Given the description of an element on the screen output the (x, y) to click on. 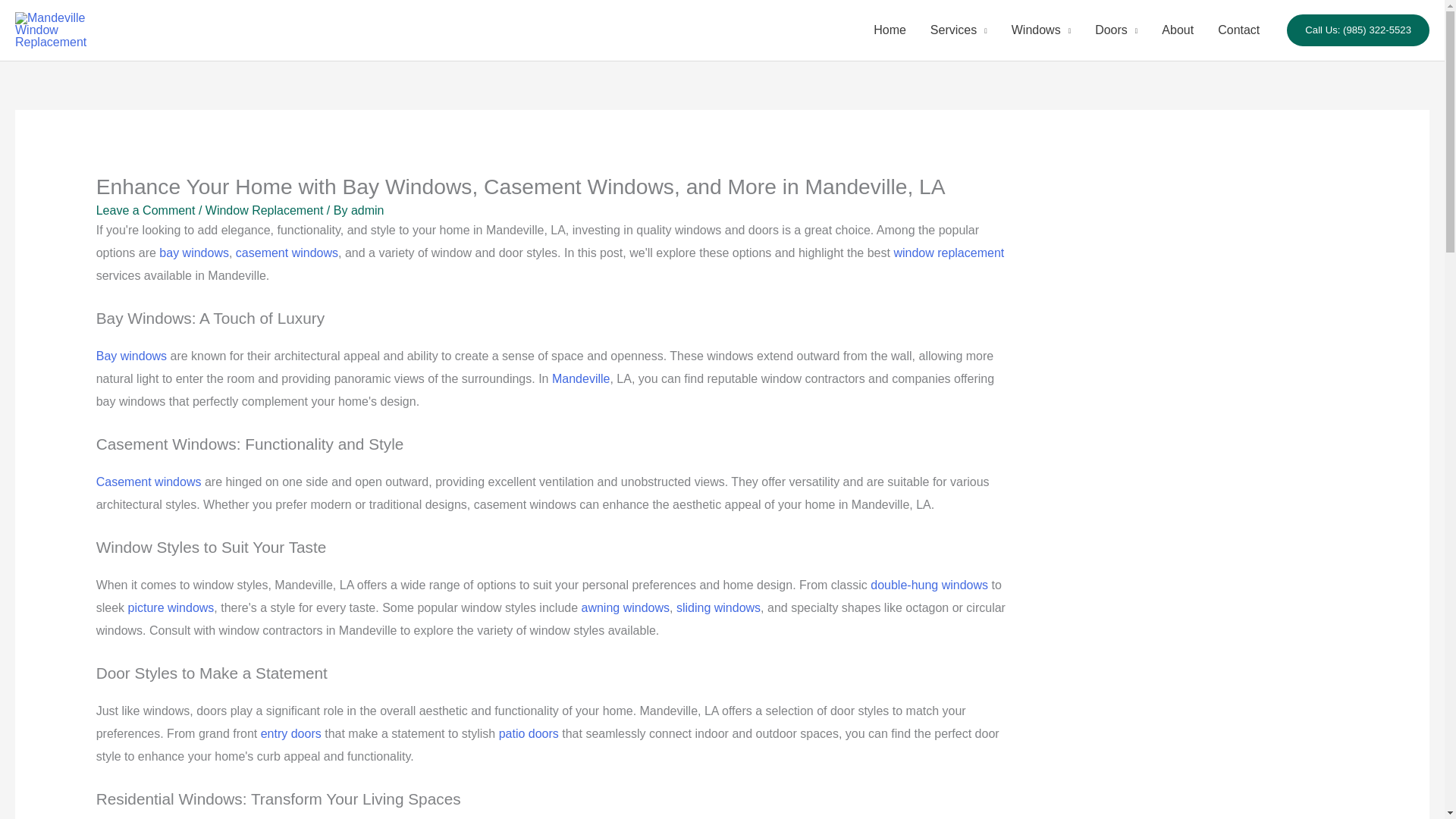
Home (889, 30)
Contact (1238, 30)
picture windows (171, 607)
Doors (1116, 30)
View all posts by admin (367, 210)
About (1177, 30)
Windows (1040, 30)
awning windows (624, 607)
Bay windows (131, 355)
Services (958, 30)
Casement windows (149, 481)
Mandeville (580, 378)
entry doors (290, 733)
